Given the description of an element on the screen output the (x, y) to click on. 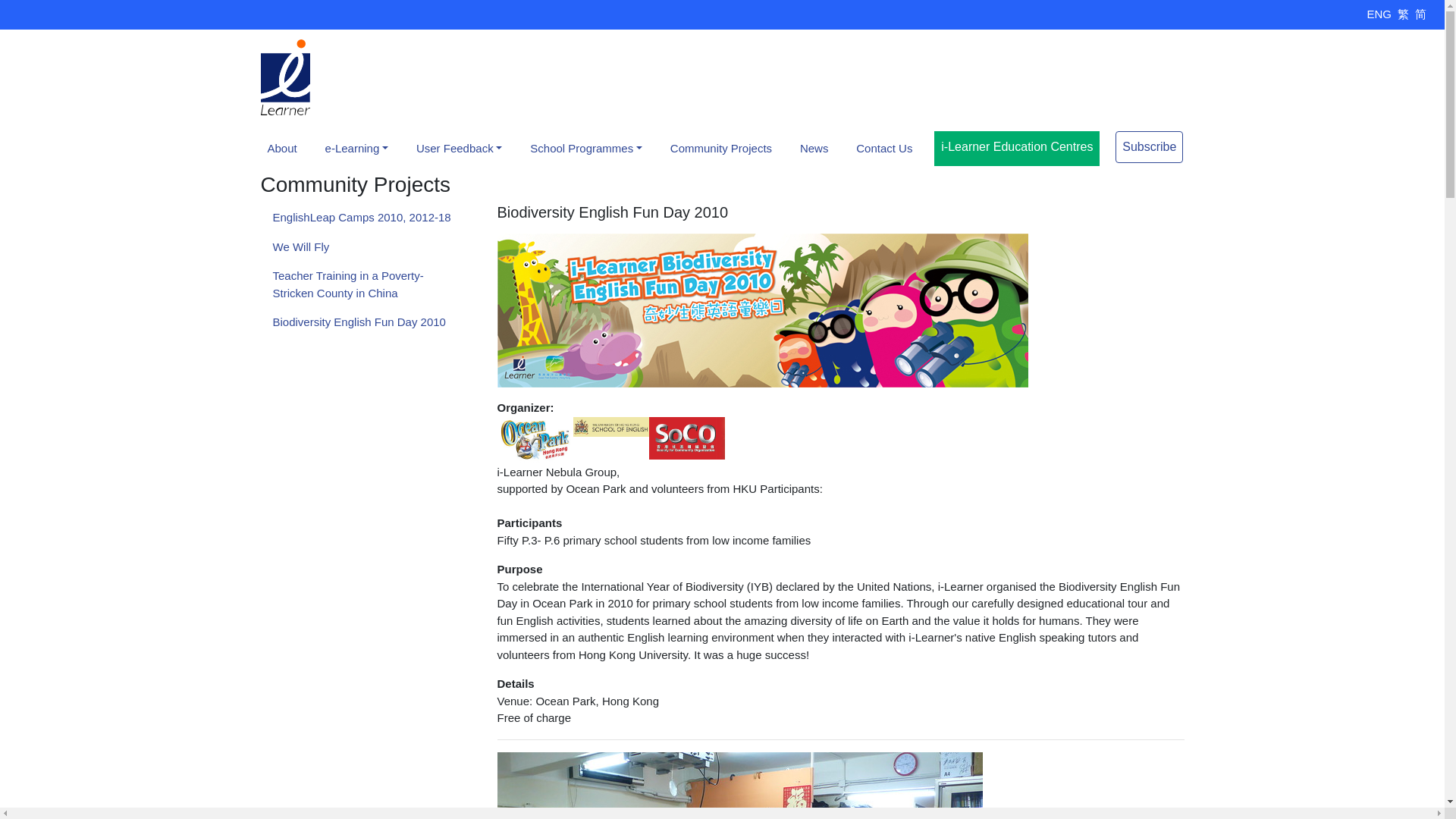
Contact Us (884, 147)
e-Learning (356, 147)
ENG (1379, 14)
Subscribe (1148, 146)
Community Projects (720, 147)
School Programmes (585, 147)
i-Learner Education Centres (1016, 146)
News (813, 147)
User Feedback (459, 147)
